Given the description of an element on the screen output the (x, y) to click on. 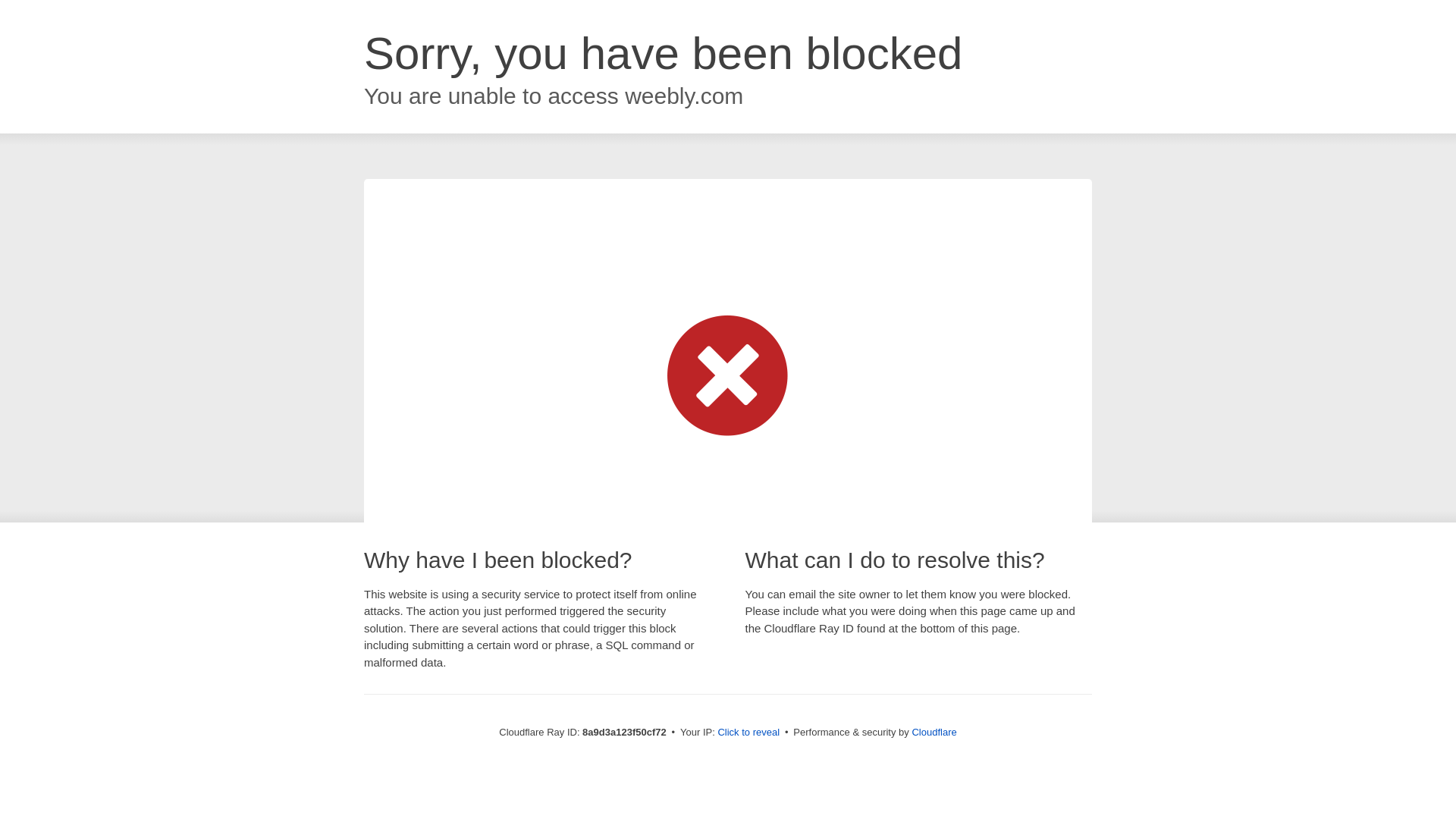
Cloudflare (933, 731)
Click to reveal (747, 732)
